Given the description of an element on the screen output the (x, y) to click on. 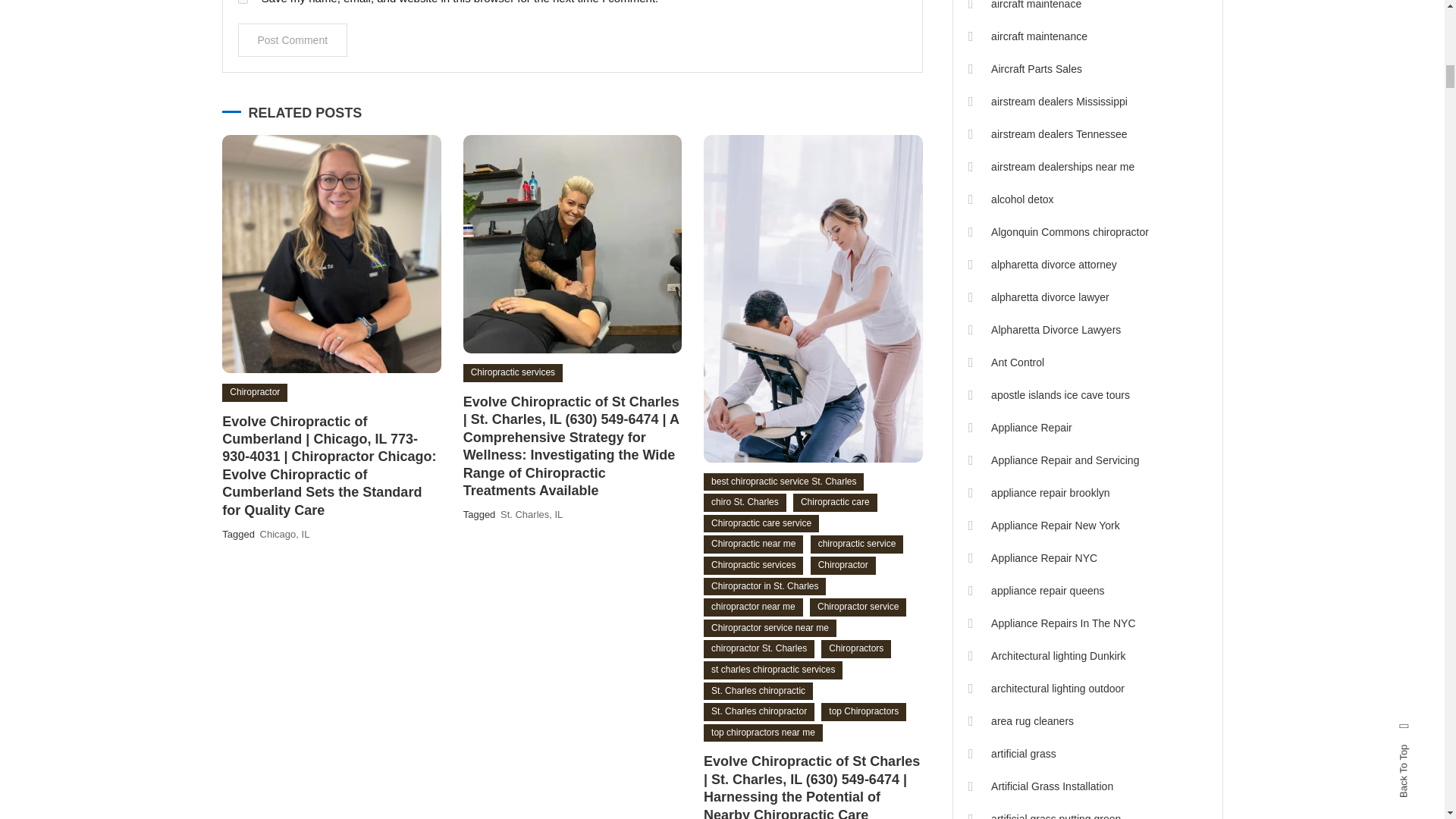
yes (242, 2)
Post Comment (292, 39)
